Given the description of an element on the screen output the (x, y) to click on. 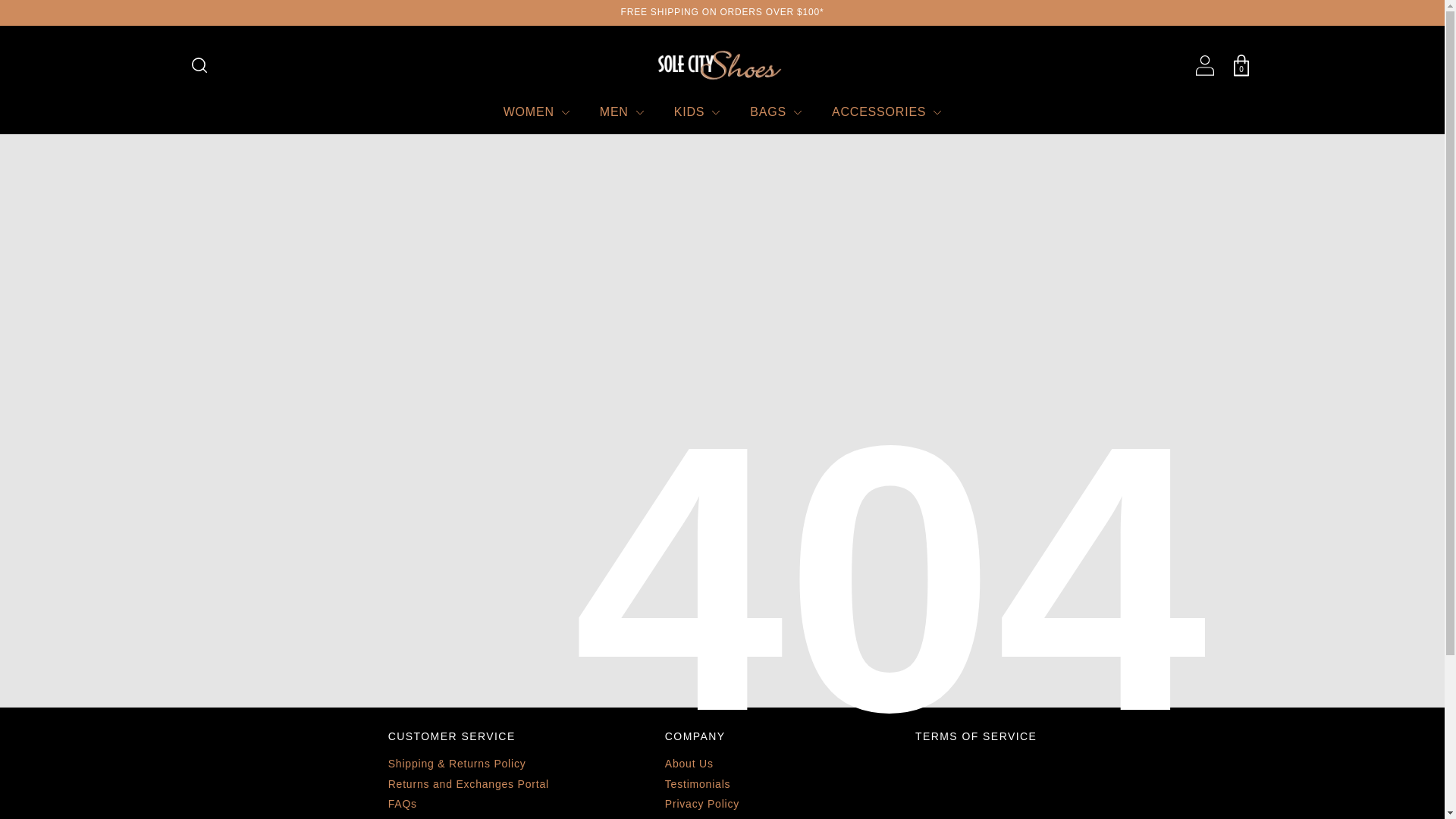
Sole City Shoes (722, 65)
Account (1203, 65)
Search (198, 64)
Open Cart (1240, 65)
